Given the description of an element on the screen output the (x, y) to click on. 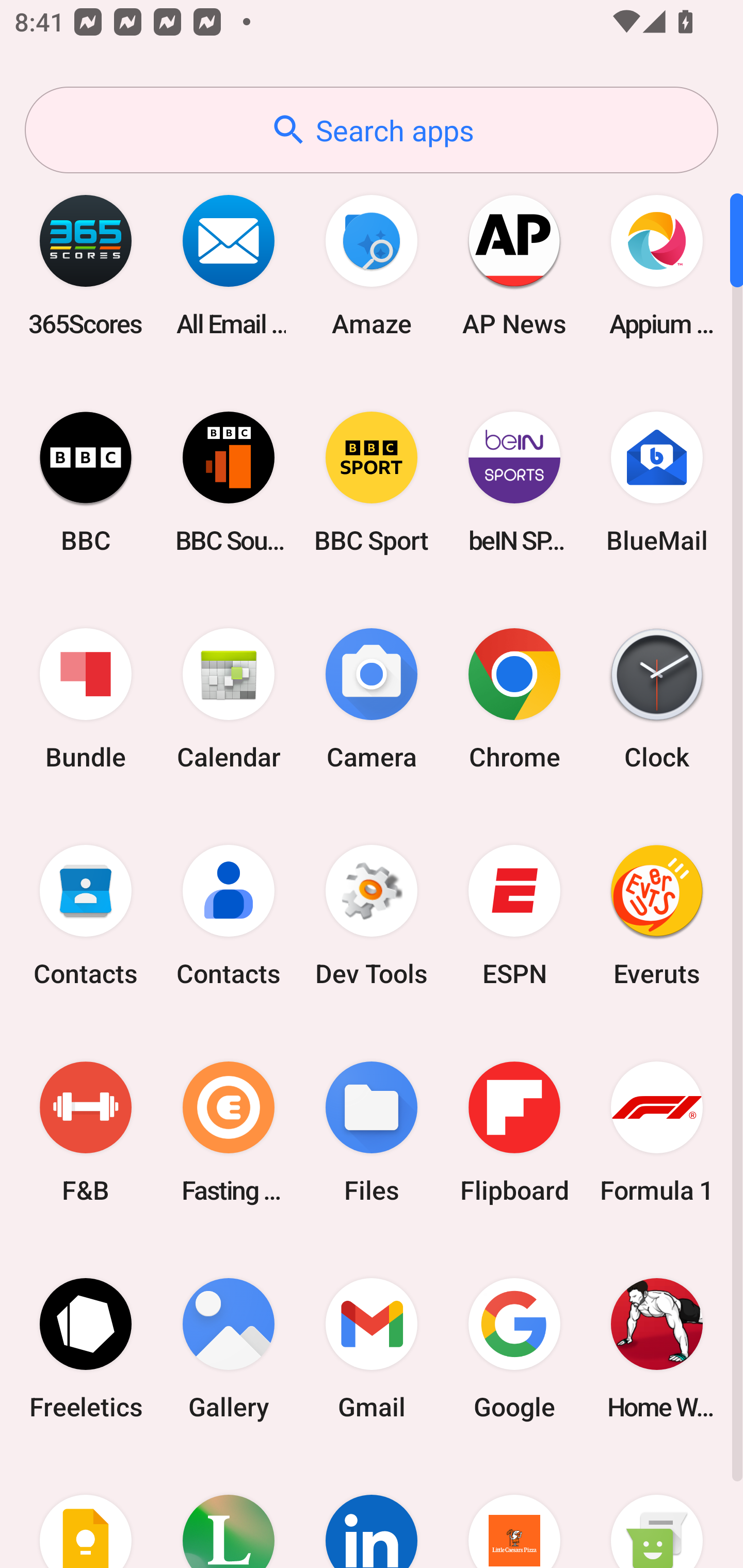
  Search apps (371, 130)
365Scores (85, 264)
All Email Connect (228, 264)
Amaze (371, 264)
AP News (514, 264)
Appium Settings (656, 264)
BBC (85, 482)
BBC Sounds (228, 482)
BBC Sport (371, 482)
beIN SPORTS (514, 482)
BlueMail (656, 482)
Bundle (85, 699)
Calendar (228, 699)
Camera (371, 699)
Chrome (514, 699)
Clock (656, 699)
Contacts (85, 915)
Contacts (228, 915)
Dev Tools (371, 915)
ESPN (514, 915)
Everuts (656, 915)
F&B (85, 1131)
Fasting Coach (228, 1131)
Files (371, 1131)
Flipboard (514, 1131)
Formula 1 (656, 1131)
Freeletics (85, 1348)
Gallery (228, 1348)
Gmail (371, 1348)
Google (514, 1348)
Home Workout (656, 1348)
Keep Notes (85, 1512)
Lifesum (228, 1512)
LinkedIn (371, 1512)
Little Caesars Pizza (514, 1512)
Messaging (656, 1512)
